Given the description of an element on the screen output the (x, y) to click on. 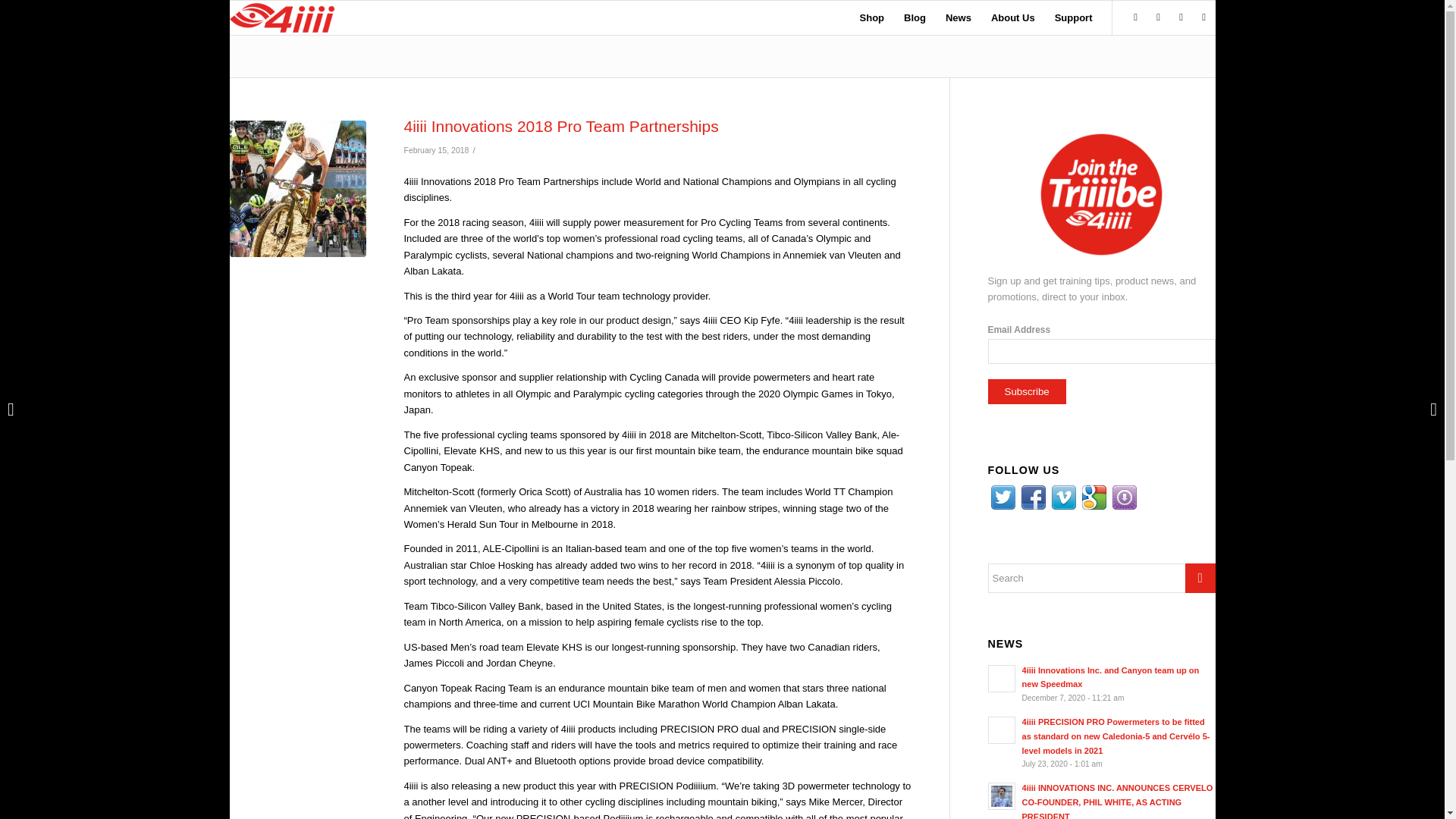
4iiii Innovations 2018 Pro Team Partnerships (296, 188)
Permanent Link: 4iiii Innovations 2018 Pro Team Partnerships (560, 126)
Shop (872, 17)
Blog (914, 17)
News (958, 17)
